Given the description of an element on the screen output the (x, y) to click on. 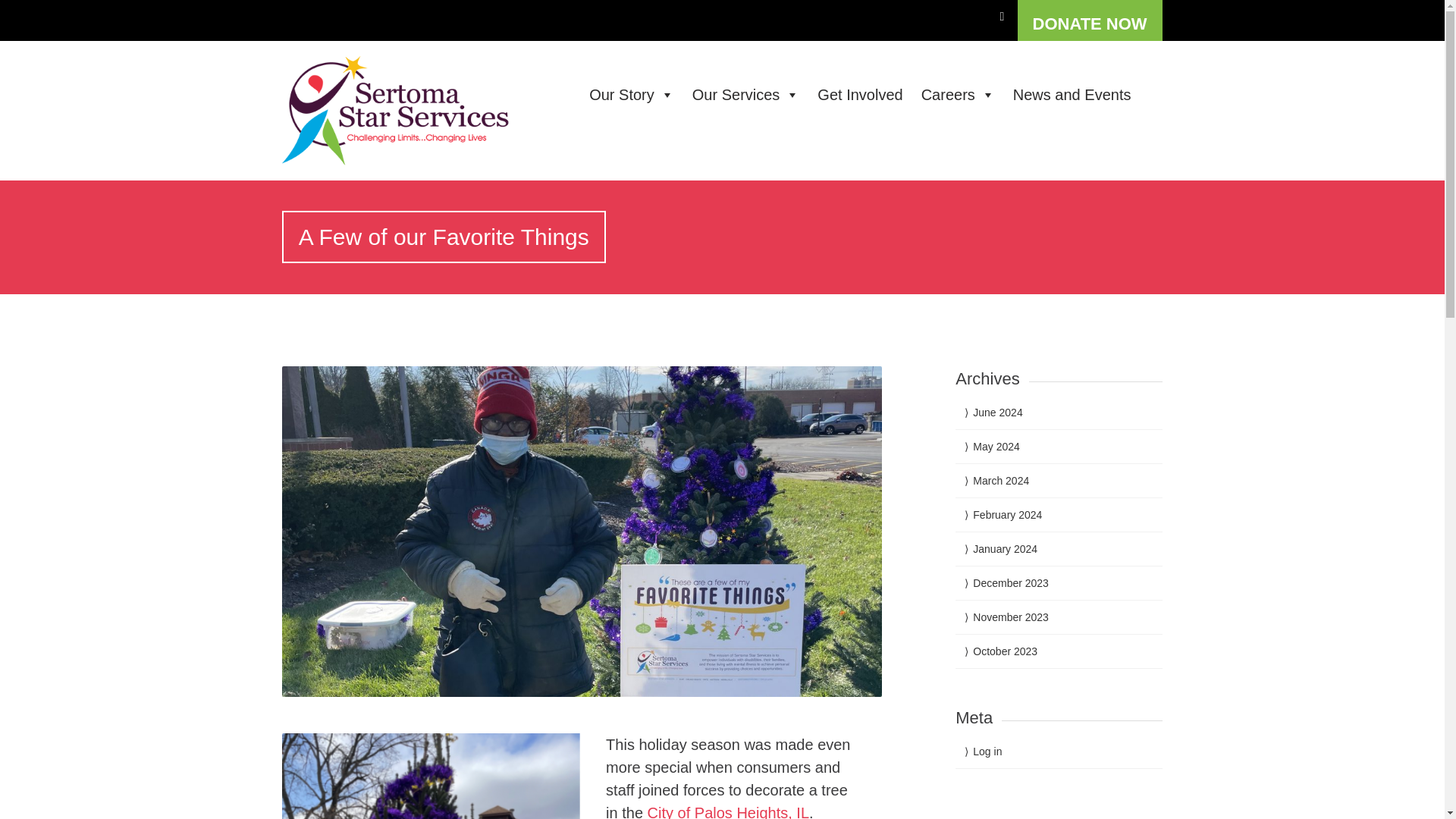
Our Services (738, 94)
March 2024 (1000, 480)
January 2024 (1004, 548)
May 2024 (995, 446)
DONATE NOW (1089, 20)
City of Palos Heights, IL (728, 811)
Log in (986, 751)
Sertoma Star Services -  (413, 110)
News and Events (1064, 94)
Careers (950, 94)
